Given the description of an element on the screen output the (x, y) to click on. 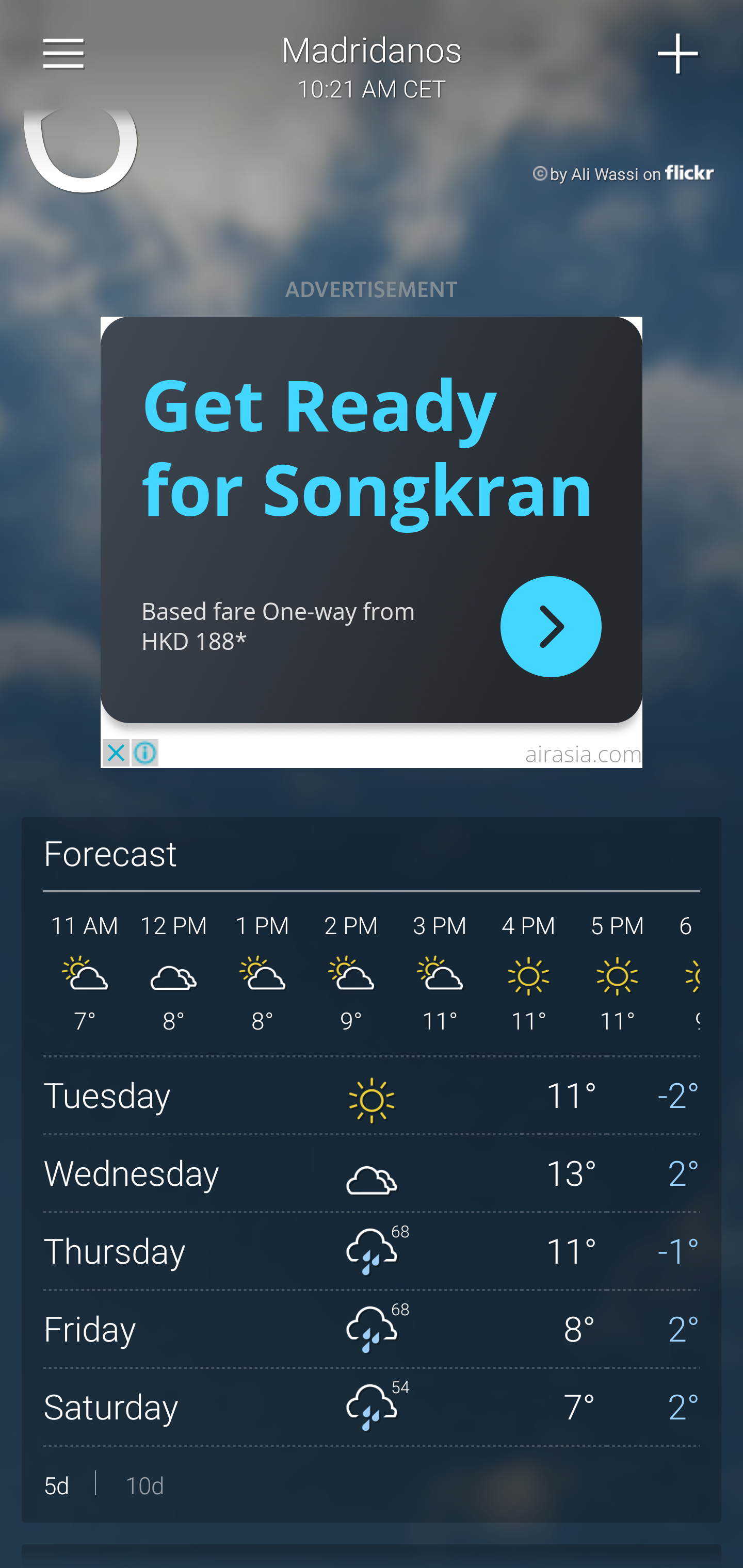
Sidebar (64, 54)
Add City (678, 53)
Get Ready for Songkran Get Ready 
 for Songkran (367, 445)
airasia.com (582, 753)
